Given the description of an element on the screen output the (x, y) to click on. 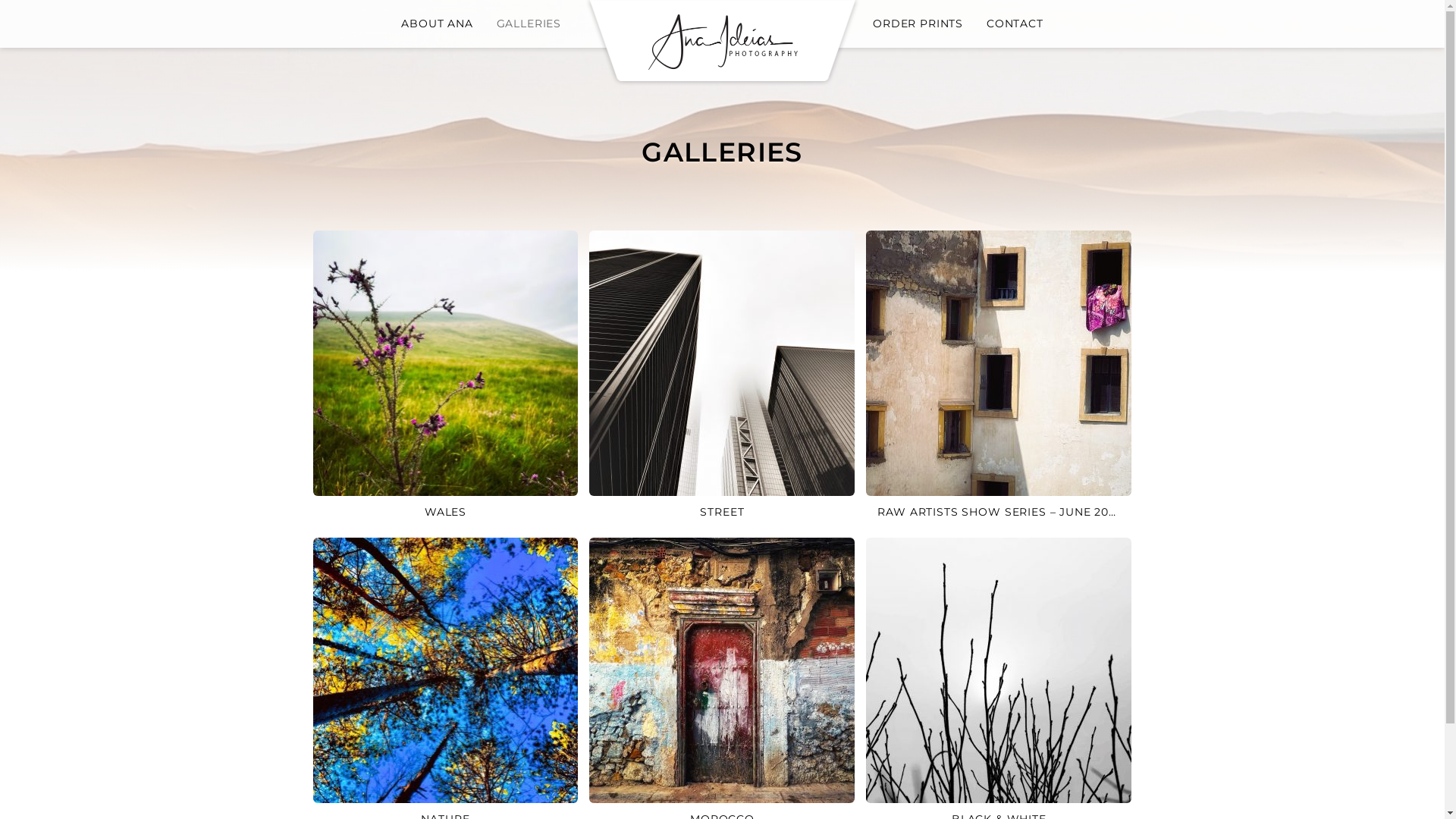
ABOUT ANA Element type: text (437, 23)
ORDER PRINTS Element type: text (917, 23)
GALLERIES Element type: text (528, 23)
WALES Element type: text (444, 378)
CONTACT Element type: text (1014, 23)
STREET Element type: text (721, 378)
